Given the description of an element on the screen output the (x, y) to click on. 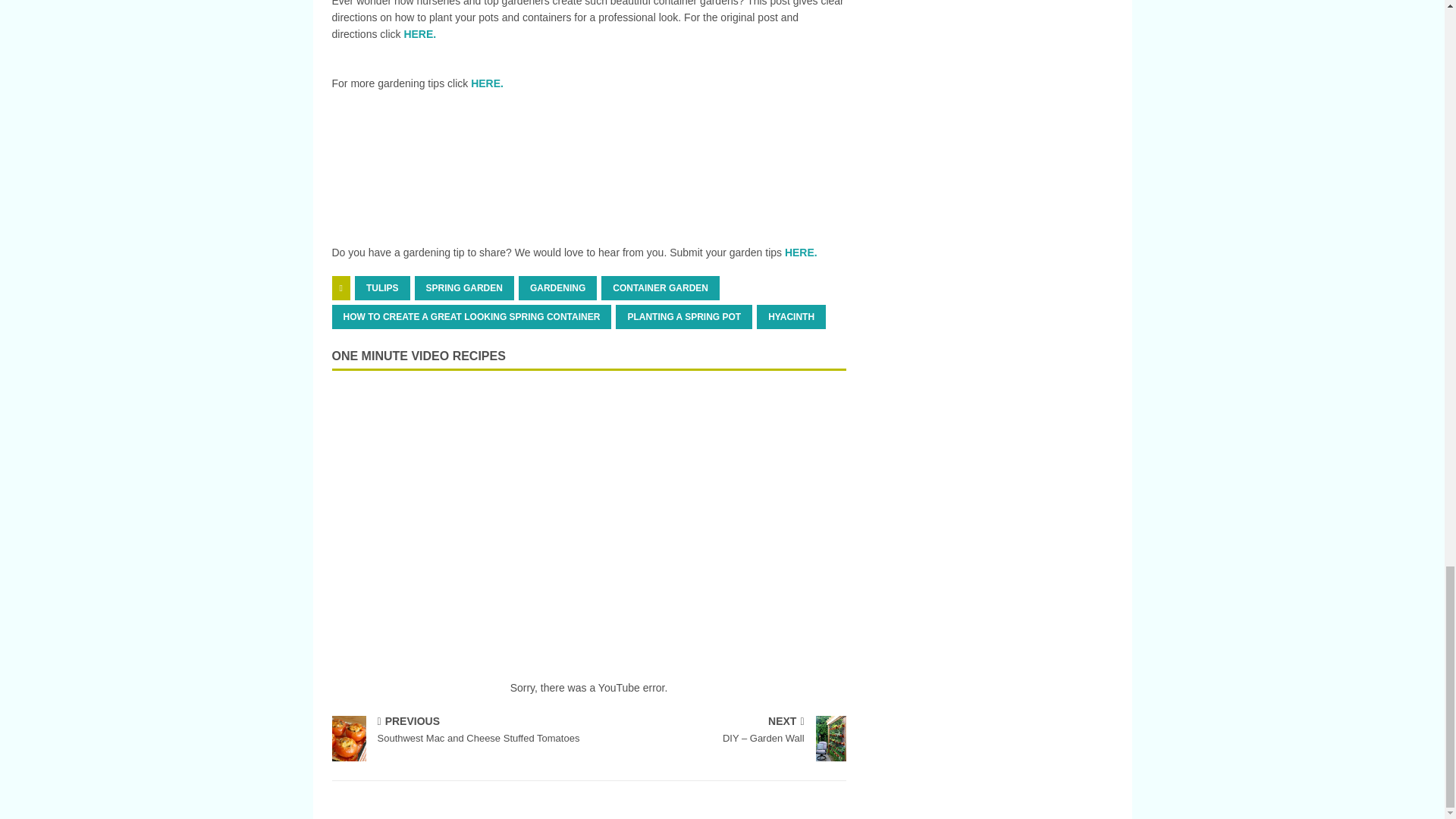
HYACINTH (791, 316)
HERE. (419, 33)
HERE. (486, 82)
CONTAINER GARDEN (660, 288)
SPRING GARDEN (463, 288)
TULIPS (382, 288)
HERE. (798, 252)
HOW TO CREATE A GREAT LOOKING SPRING CONTAINER (471, 316)
PLANTING A SPRING POT (683, 316)
